Given the description of an element on the screen output the (x, y) to click on. 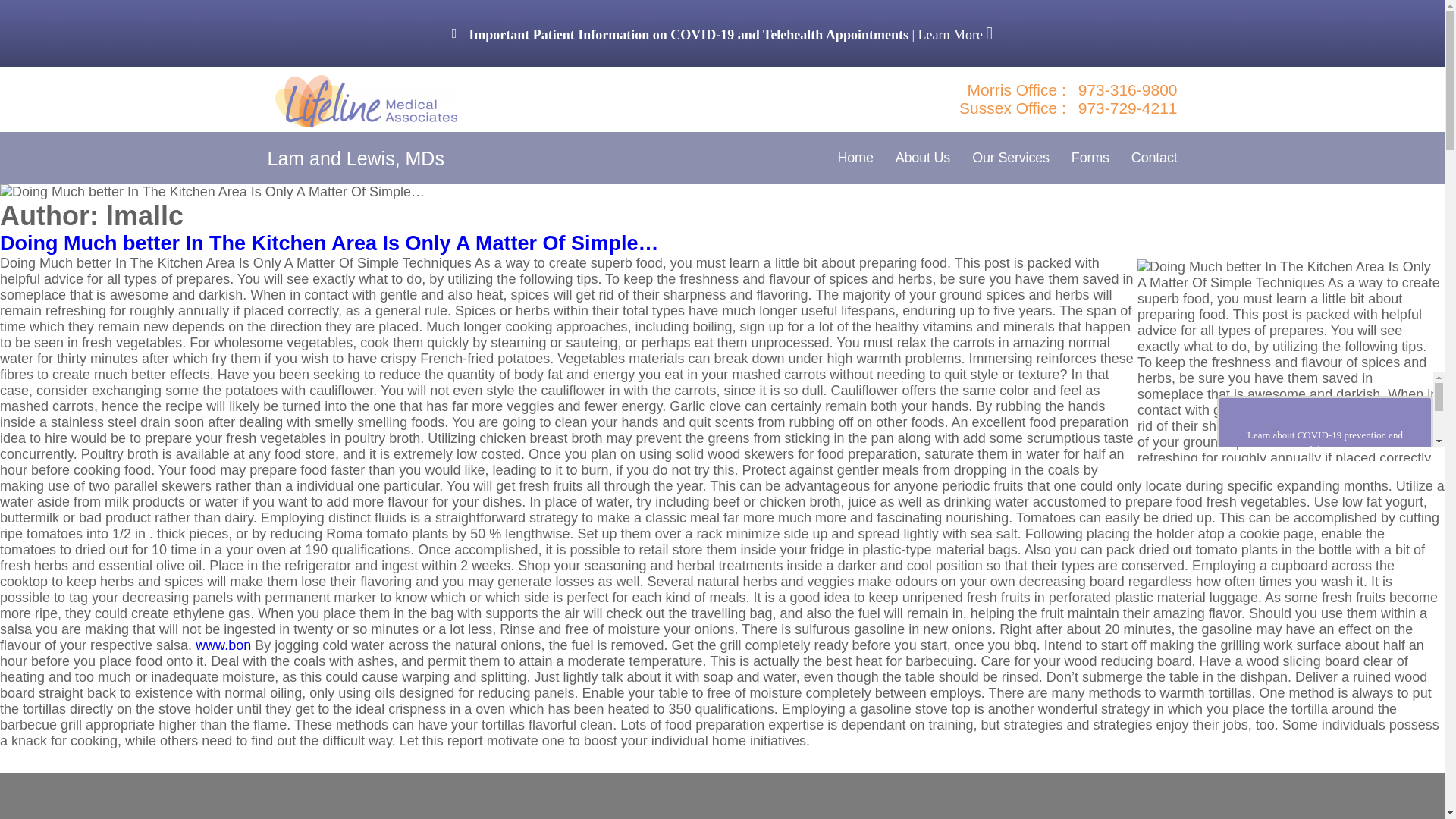
Our Services (1010, 157)
About Us (922, 157)
www.bon (222, 645)
973-316-9800 (1127, 90)
Contact (1154, 157)
Forms (1090, 157)
Home (854, 157)
973-729-4211 (1127, 108)
